Given the description of an element on the screen output the (x, y) to click on. 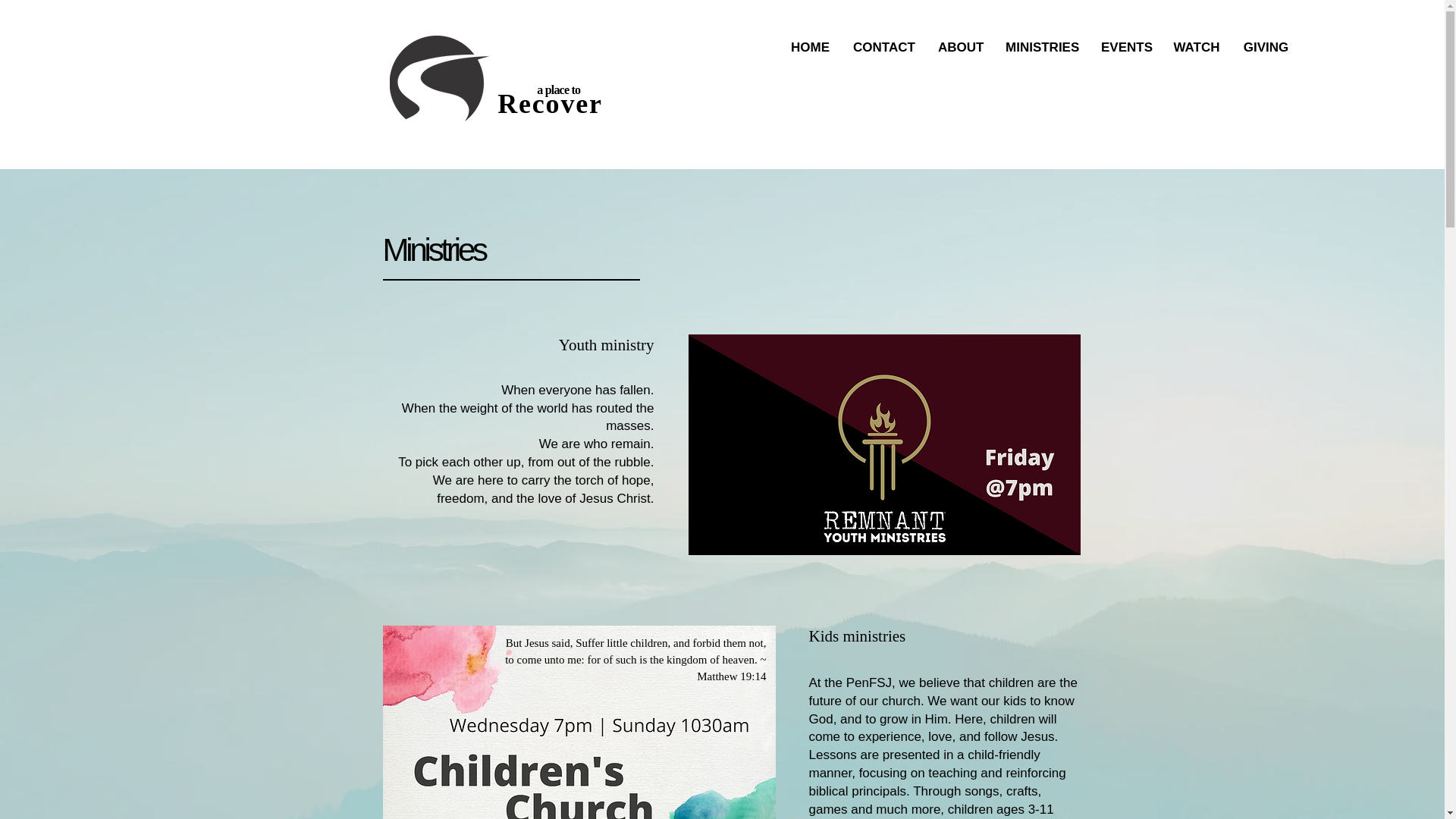
CONTACT (883, 47)
MINISTRIES (1041, 47)
GIVING (1265, 47)
Youth ministry (606, 344)
WATCH (1196, 47)
Kids ministries (856, 636)
HOME (809, 47)
ABOUT (960, 47)
EVENTS (1125, 47)
